Given the description of an element on the screen output the (x, y) to click on. 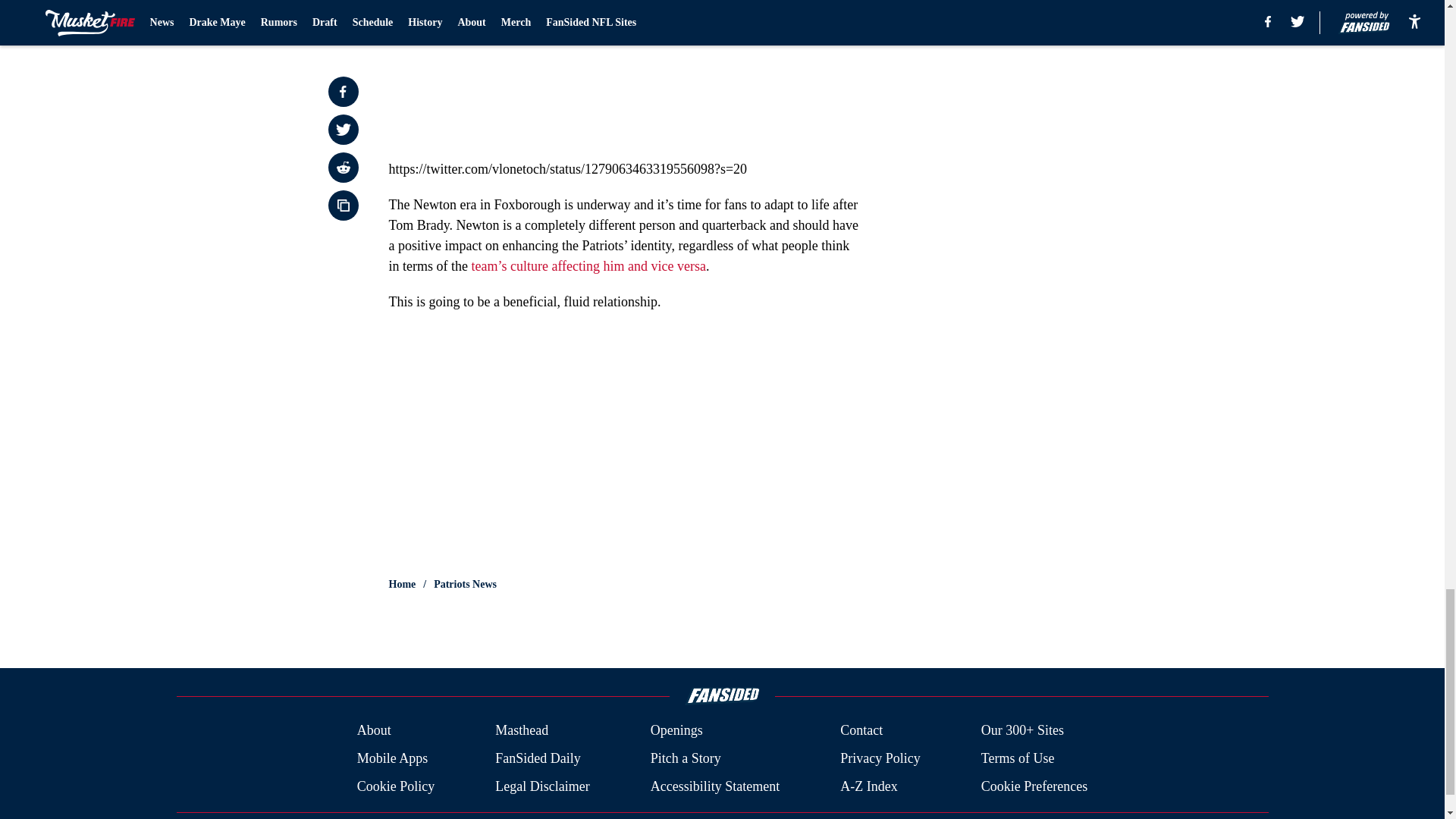
Home (401, 584)
Mobile Apps (392, 758)
Patriots News (464, 584)
Contact (861, 730)
Masthead (521, 730)
Openings (676, 730)
FanSided Daily (537, 758)
About (373, 730)
